Given the description of an element on the screen output the (x, y) to click on. 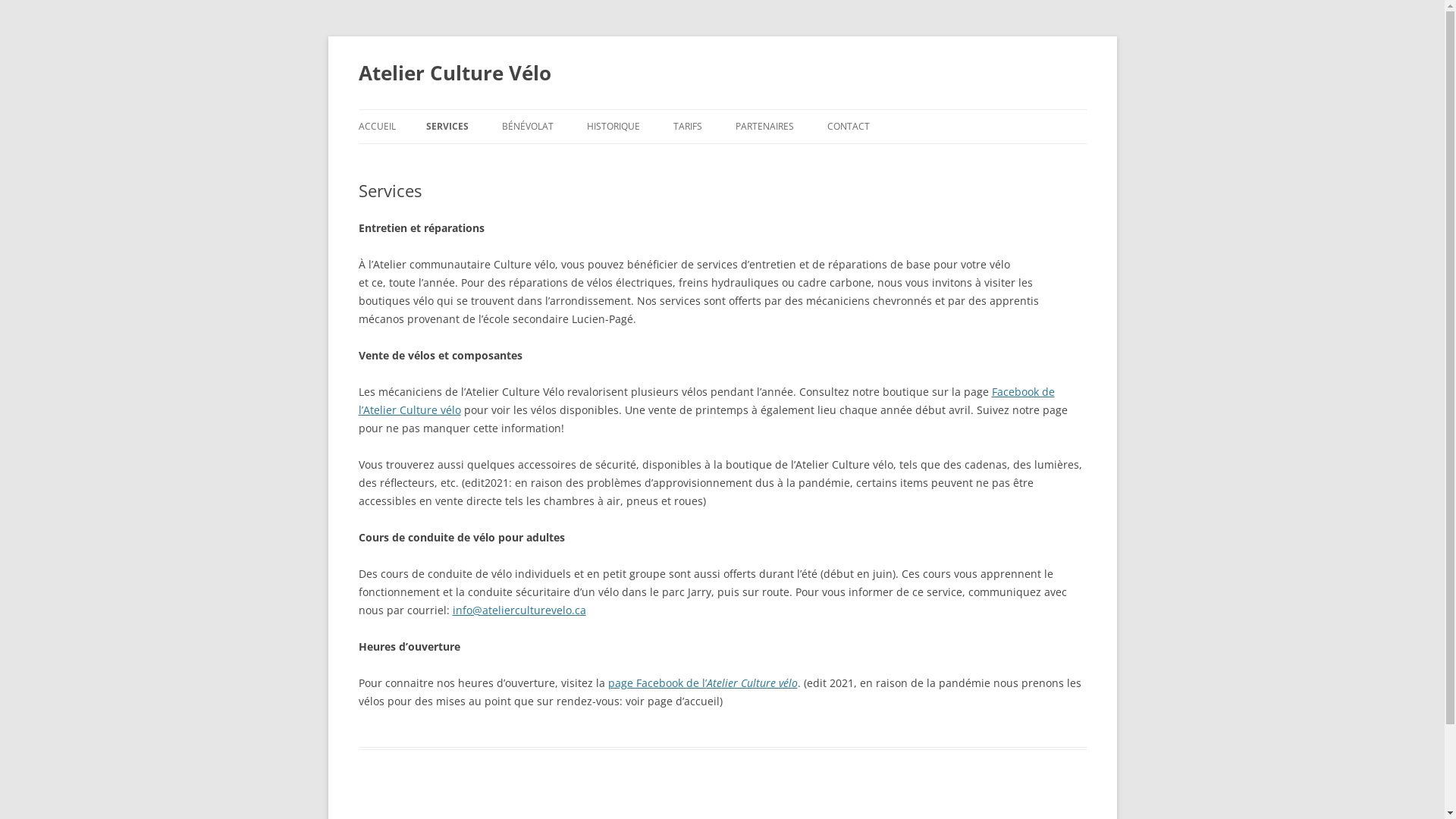
TARIFS Element type: text (687, 126)
Aller au contenu Element type: text (721, 109)
info@atelierculturevelo.ca Element type: text (518, 609)
HISTORIQUE Element type: text (613, 126)
PARTENAIRES Element type: text (764, 126)
CONTACT Element type: text (847, 126)
SERVICES Element type: text (447, 126)
ACCUEIL Element type: text (376, 126)
